Given the description of an element on the screen output the (x, y) to click on. 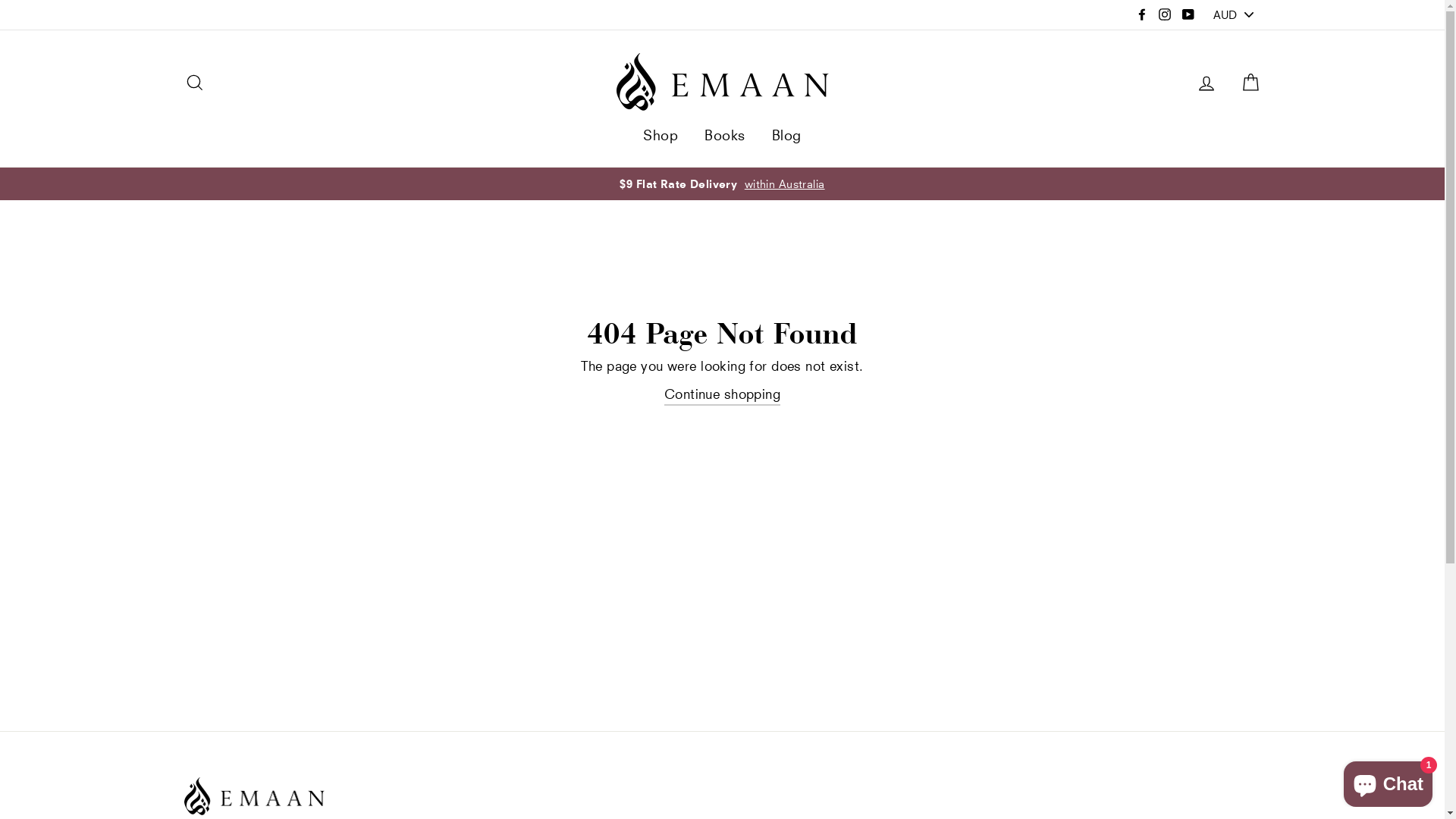
Books Element type: text (724, 134)
Instagram Element type: text (1164, 14)
Blog Element type: text (786, 134)
Shop Element type: text (660, 134)
$9 Flat Rate Delivery within Australia Element type: text (722, 183)
Shopify online store chat Element type: hover (1388, 780)
Facebook Element type: text (1141, 14)
Continue shopping Element type: text (722, 394)
Cart Element type: text (1249, 81)
Skip to content Element type: text (0, 0)
YouTube Element type: text (1188, 14)
